Given the description of an element on the screen output the (x, y) to click on. 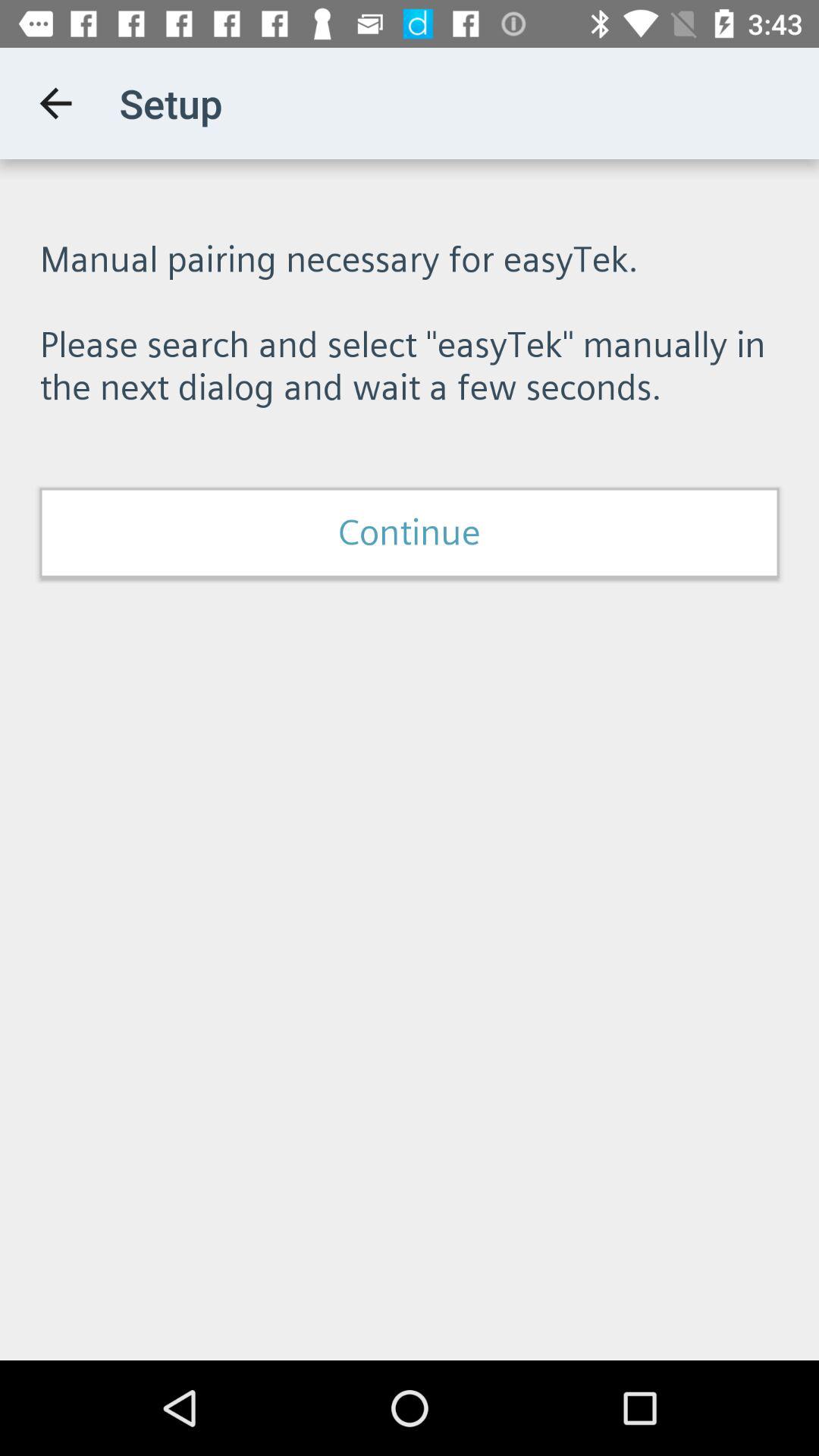
launch icon above manual pairing necessary (55, 103)
